Given the description of an element on the screen output the (x, y) to click on. 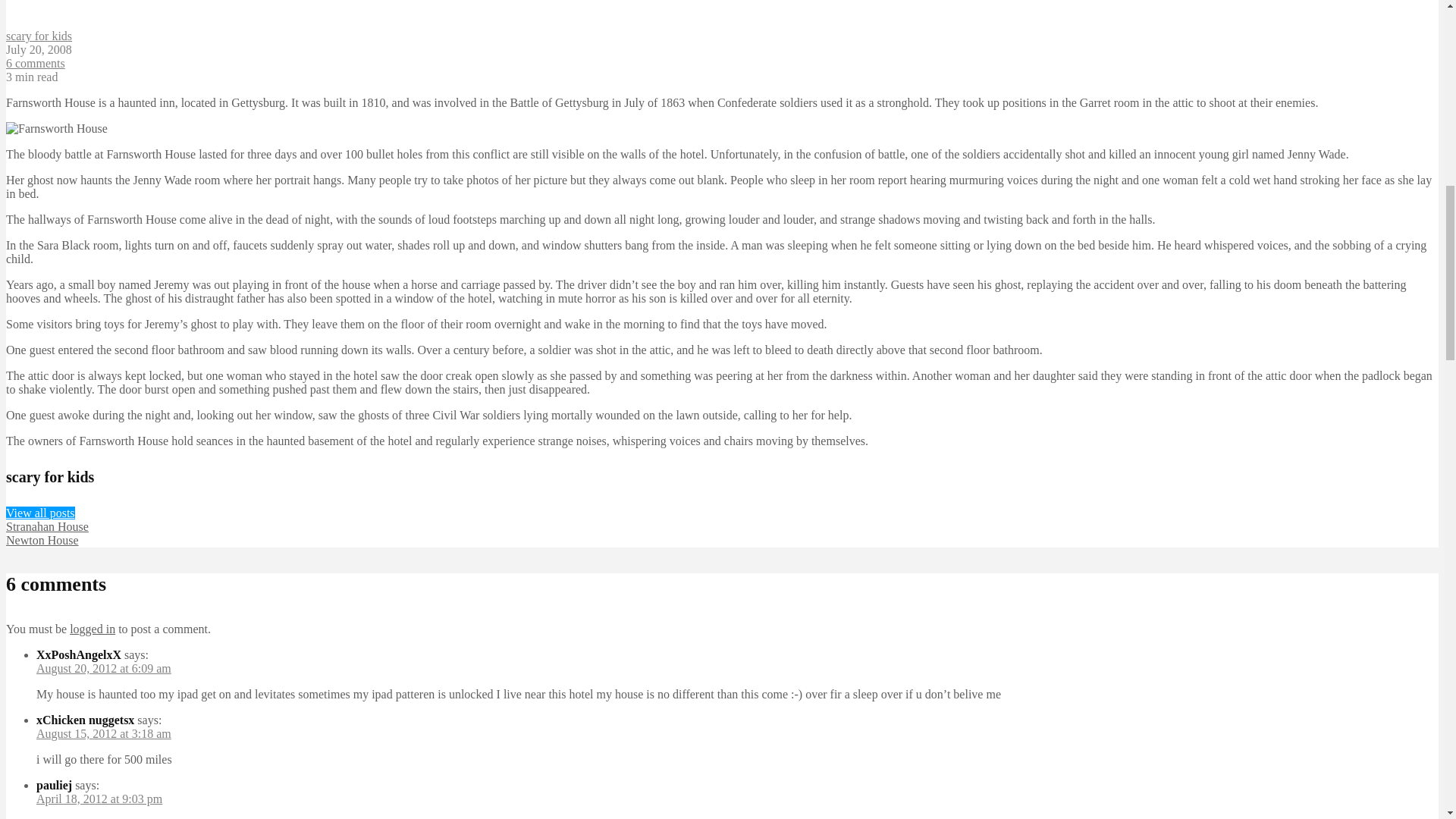
August 20, 2012 at 6:09 am (103, 667)
logged in (92, 628)
Farnsworth House (56, 128)
August 15, 2012 at 3:18 am (103, 733)
6 comments (35, 62)
Stranahan House (46, 526)
April 18, 2012 at 9:03 pm (98, 798)
scary for kids (38, 35)
View all posts (40, 512)
Newton House (41, 540)
